Given the description of an element on the screen output the (x, y) to click on. 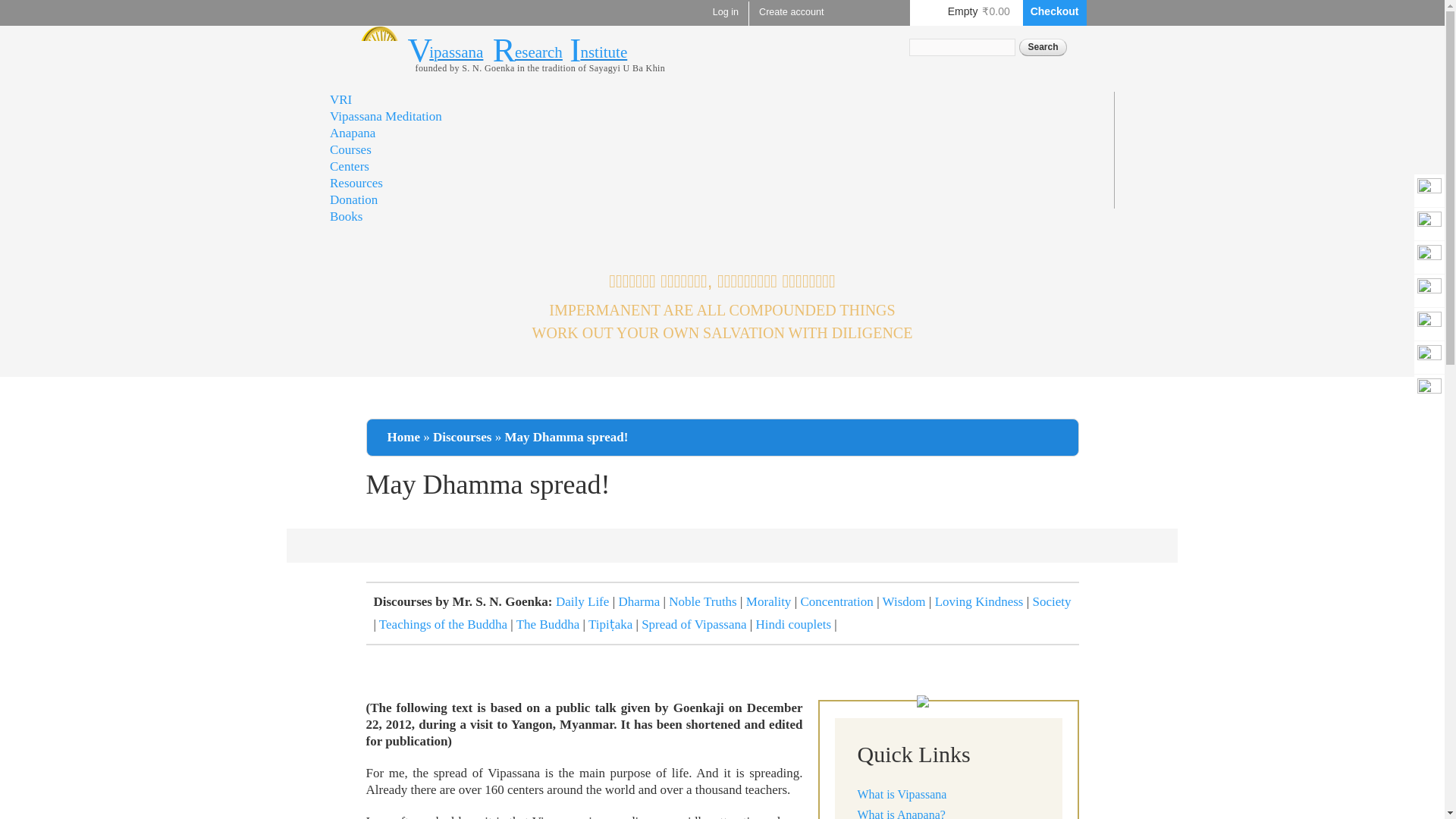
esearch (538, 52)
Courses (350, 149)
Vipassana Research Institute (564, 51)
Create account (791, 12)
Vipassana Research Institute (378, 74)
Home (564, 51)
Resources (356, 183)
nstitute (603, 52)
V (419, 49)
Vipassana Meditation (386, 115)
R (504, 49)
Search (1042, 47)
I (574, 49)
Donation (353, 199)
Centers (349, 165)
